Given the description of an element on the screen output the (x, y) to click on. 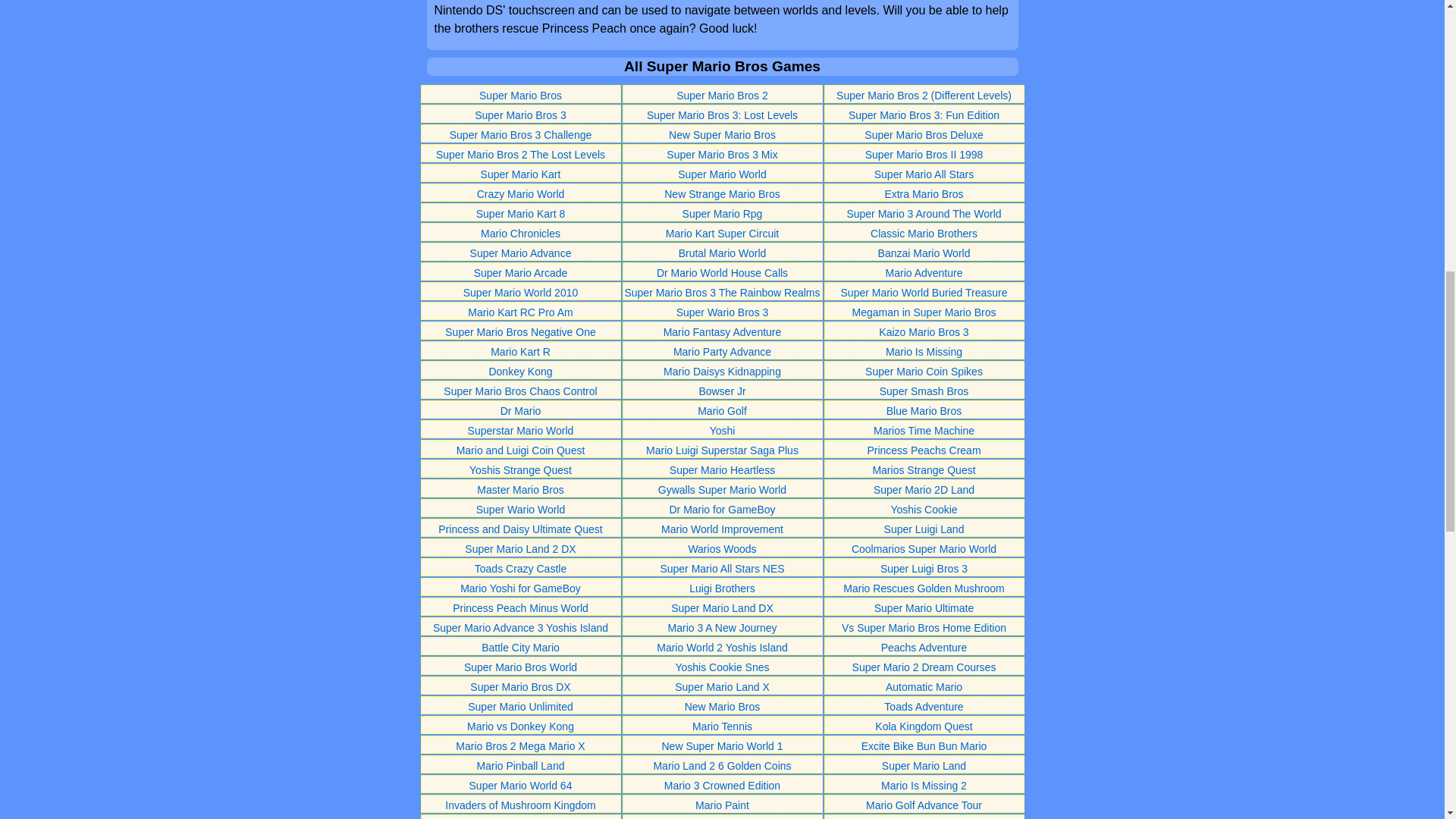
New Strange Mario Bros (721, 193)
Super Mario Bros 3 Challenge (520, 134)
Super Mario Bros (520, 95)
Super Mario Kart 8 (521, 214)
Super Mario Bros Deluxe (923, 134)
Super Mario All Stars (924, 174)
Super Mario Advance (521, 253)
Super Mario 3 Around The World (923, 214)
Banzai Mario World (924, 253)
Brutal Mario World (722, 253)
